Given the description of an element on the screen output the (x, y) to click on. 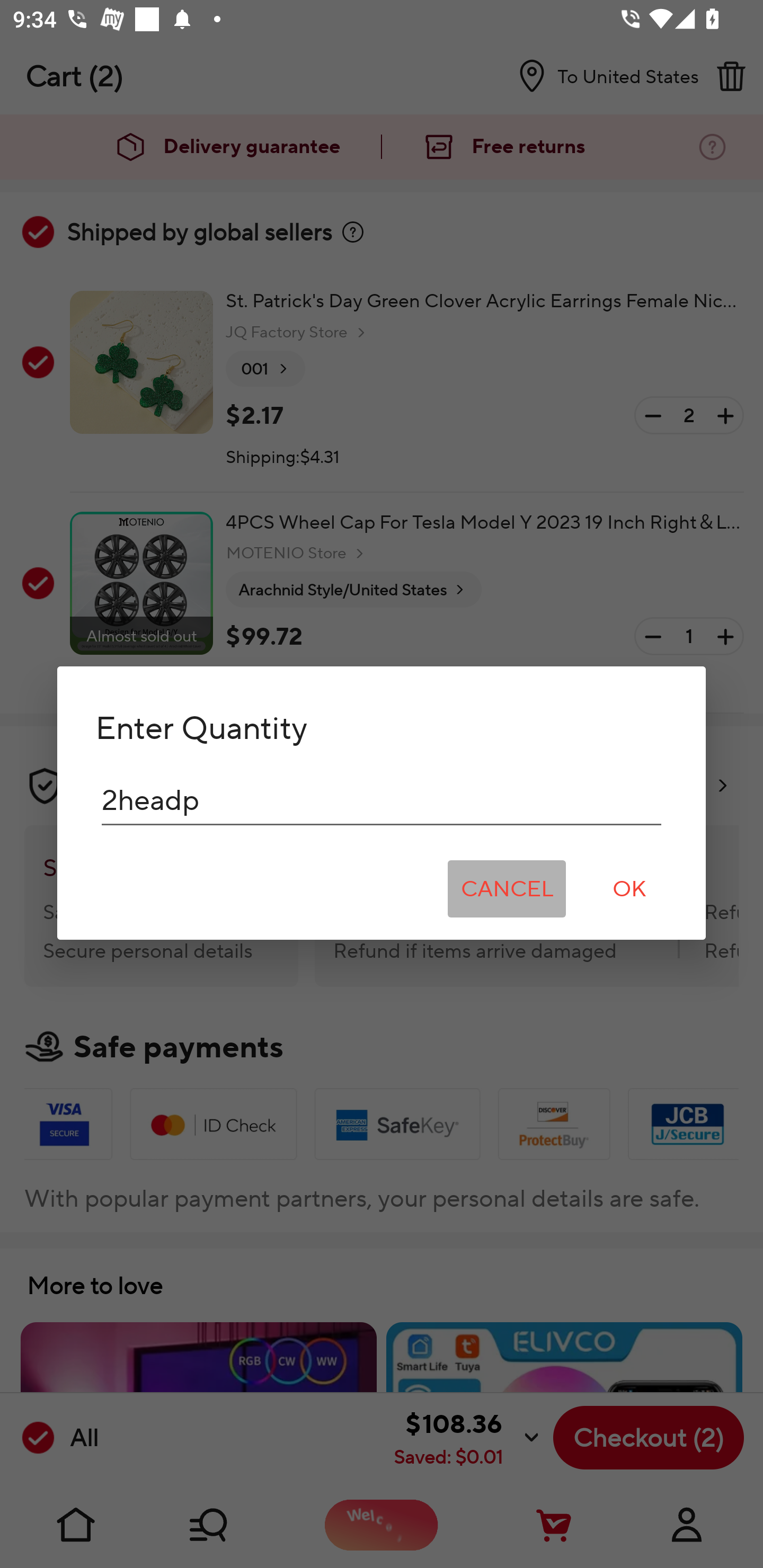
2headp (381, 800)
CANCEL (506, 888)
OK (629, 888)
